Given the description of an element on the screen output the (x, y) to click on. 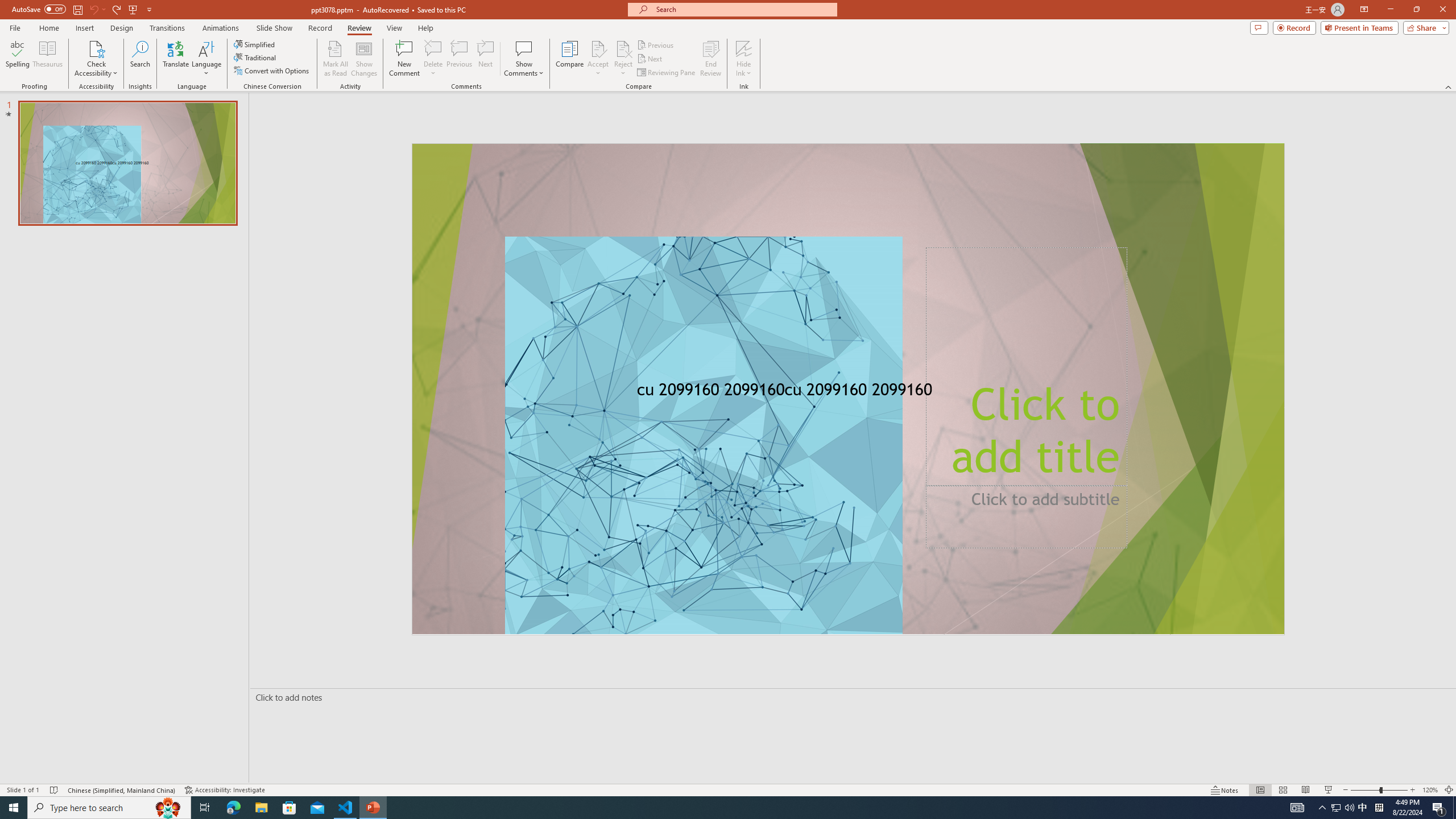
Traditional (255, 56)
